Given the description of an element on the screen output the (x, y) to click on. 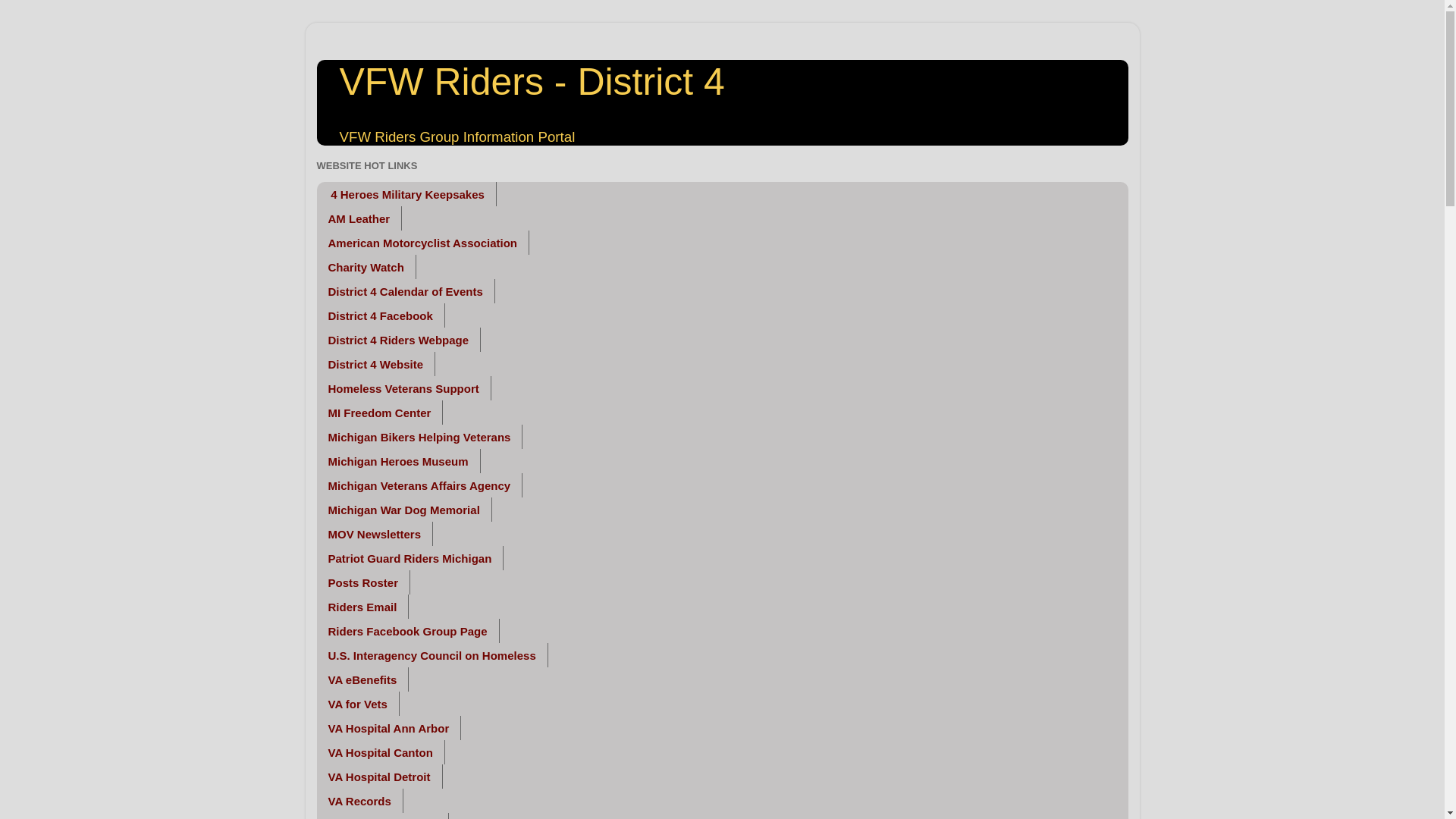
VA eBenefits (363, 679)
District 4 Riders Webpage (399, 339)
MI Freedom Center (380, 412)
District 4 Calendar of Events (406, 291)
Michigan Heroes Museum (398, 460)
AM Leather (360, 218)
VA Records (360, 800)
4 Heroes Military Keepsakes (406, 193)
Veterans Crisis Line (382, 816)
VA Hospital Detroit (379, 776)
MOV Newsletters (375, 533)
Riders Email (363, 606)
VA for Vets (357, 703)
Riders Facebook Group Page (408, 630)
Patriot Guard Riders Michigan (410, 558)
